Given the description of an element on the screen output the (x, y) to click on. 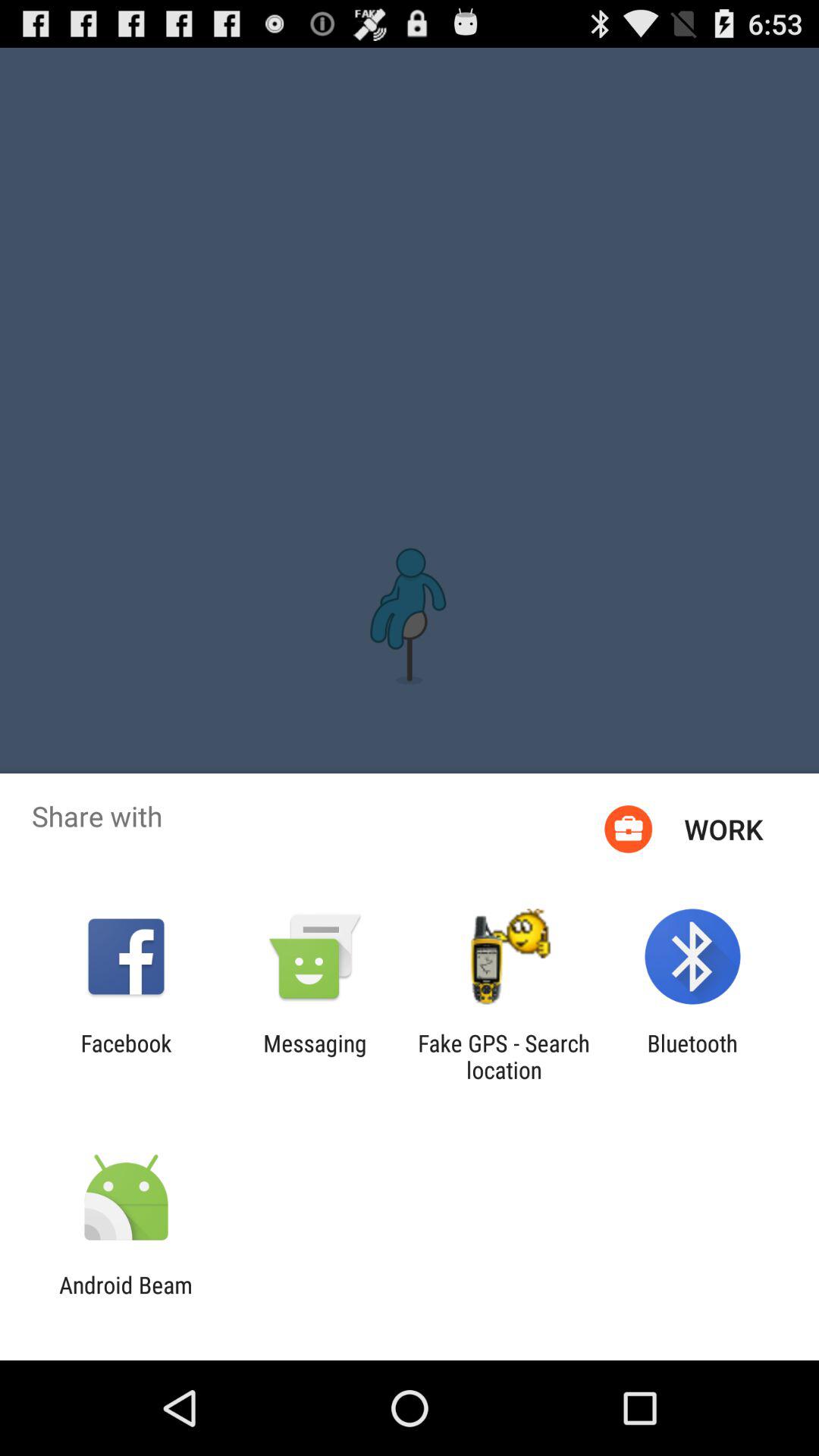
turn on the facebook item (125, 1056)
